Given the description of an element on the screen output the (x, y) to click on. 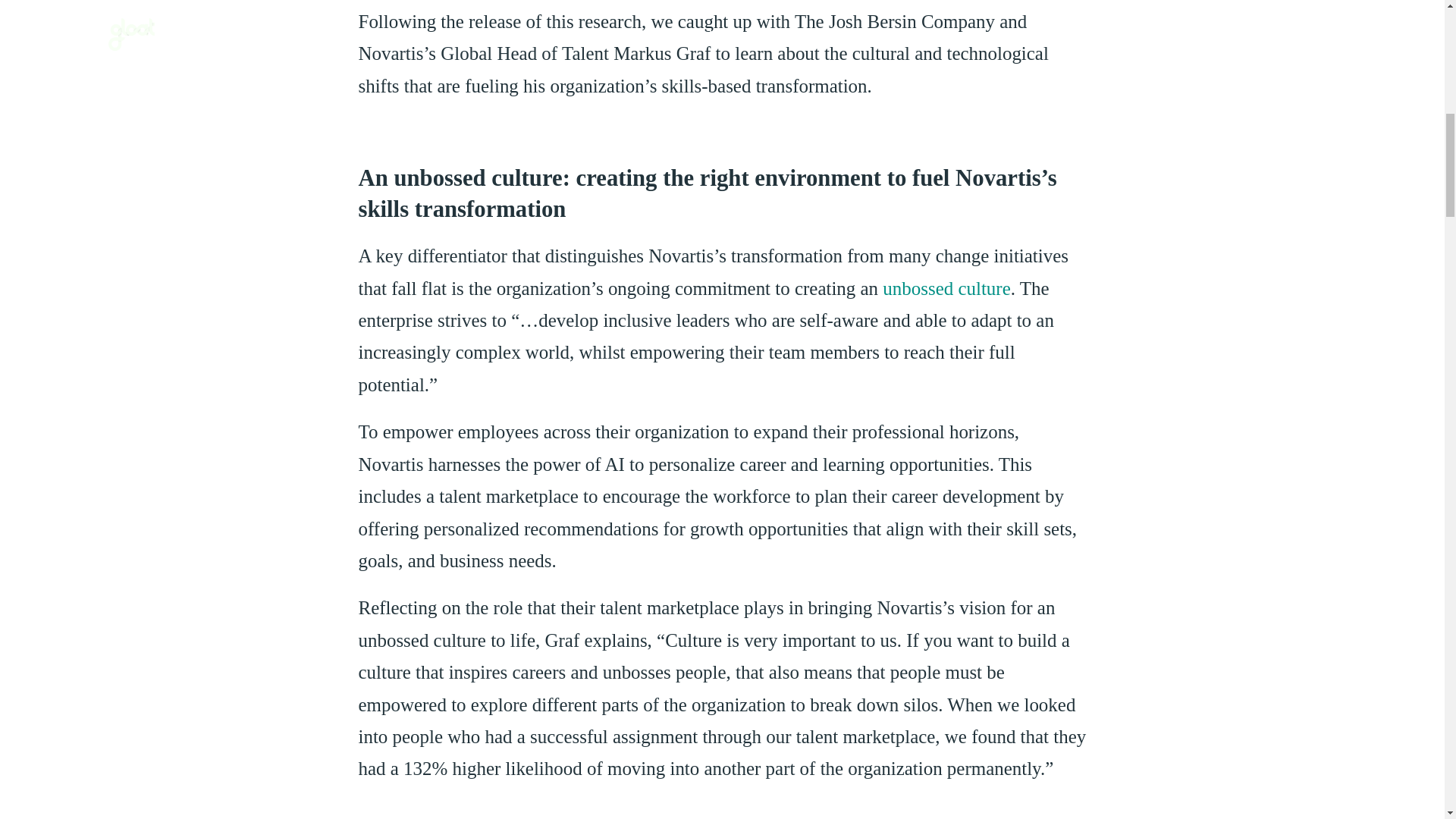
unbossed culture (946, 288)
